Given the description of an element on the screen output the (x, y) to click on. 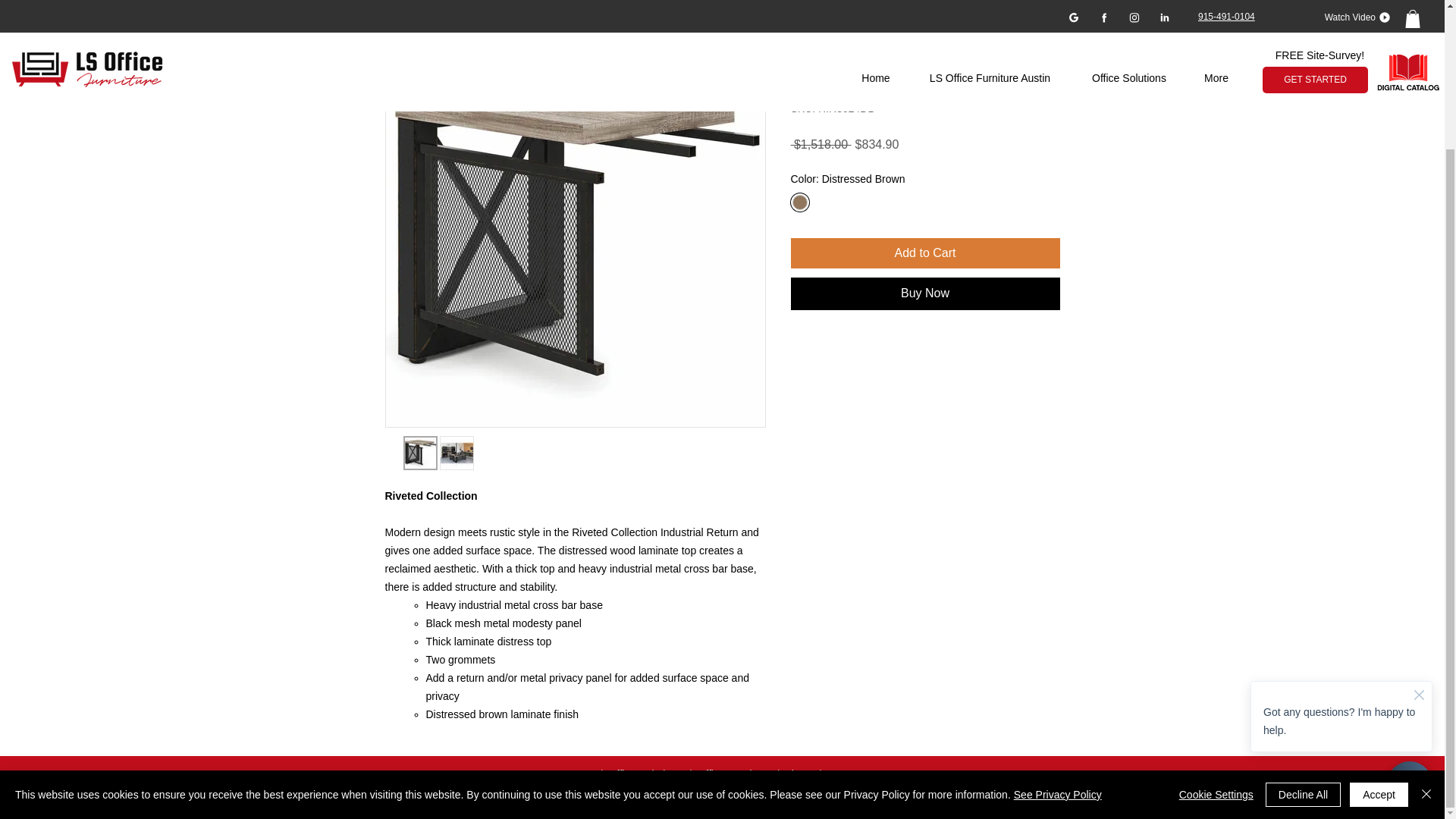
Buy Now (924, 293)
See Privacy Policy (1057, 622)
Contact Us (853, 774)
El Paso (760, 798)
Office Furniture (733, 774)
Terms of Use (971, 798)
Home (578, 774)
Privacy Policy (893, 798)
915-491-0104 (815, 798)
Accept (1378, 622)
Add to Cart (924, 253)
